Given the description of an element on the screen output the (x, y) to click on. 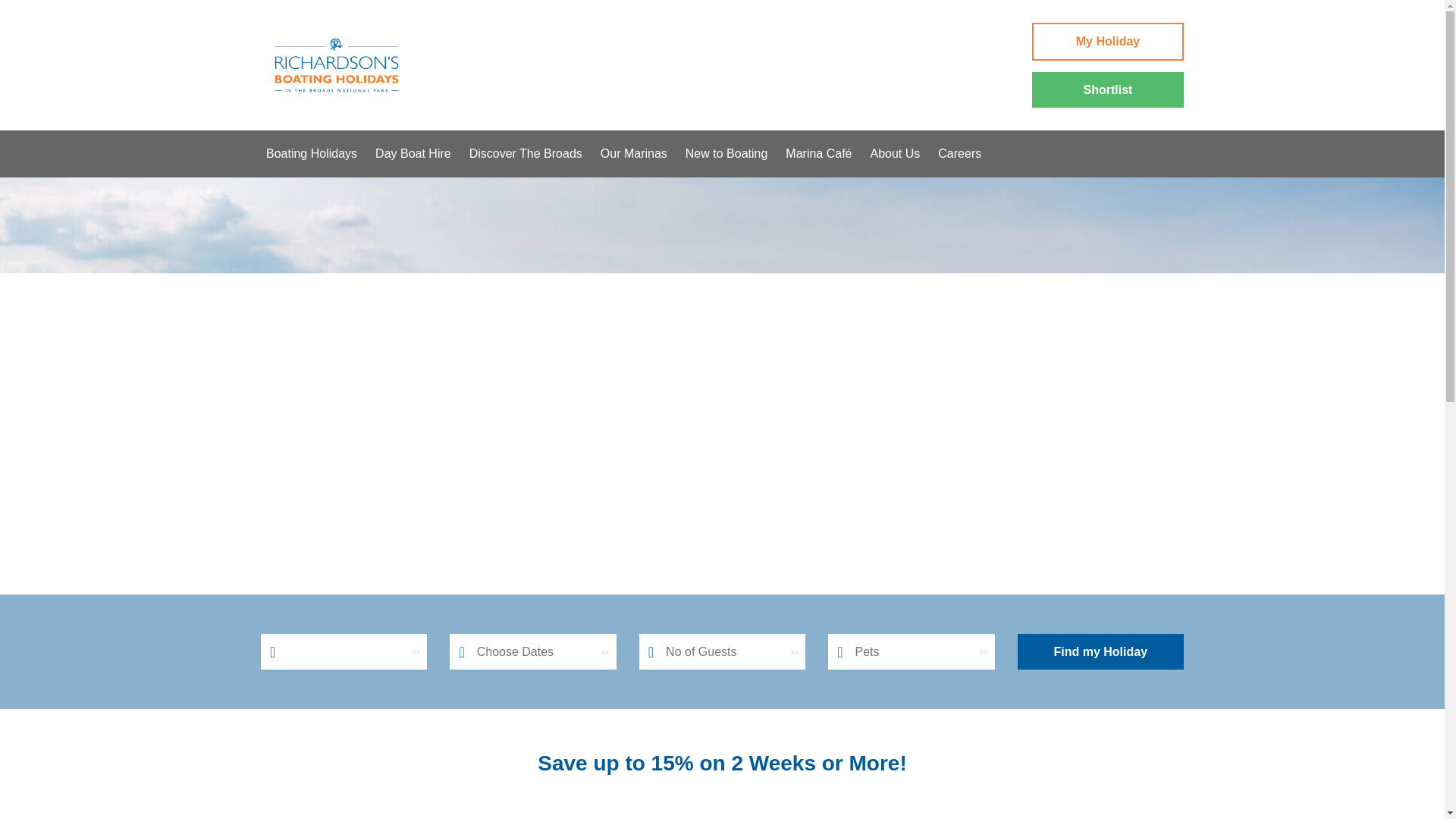
My Holiday (1107, 41)
Boating Holidays (311, 153)
Our Marinas (633, 153)
Shortlist (1107, 90)
New to Boating (726, 153)
Find my Holiday (1100, 651)
Day Boat Hire (413, 153)
Discover The Broads (526, 153)
